Given the description of an element on the screen output the (x, y) to click on. 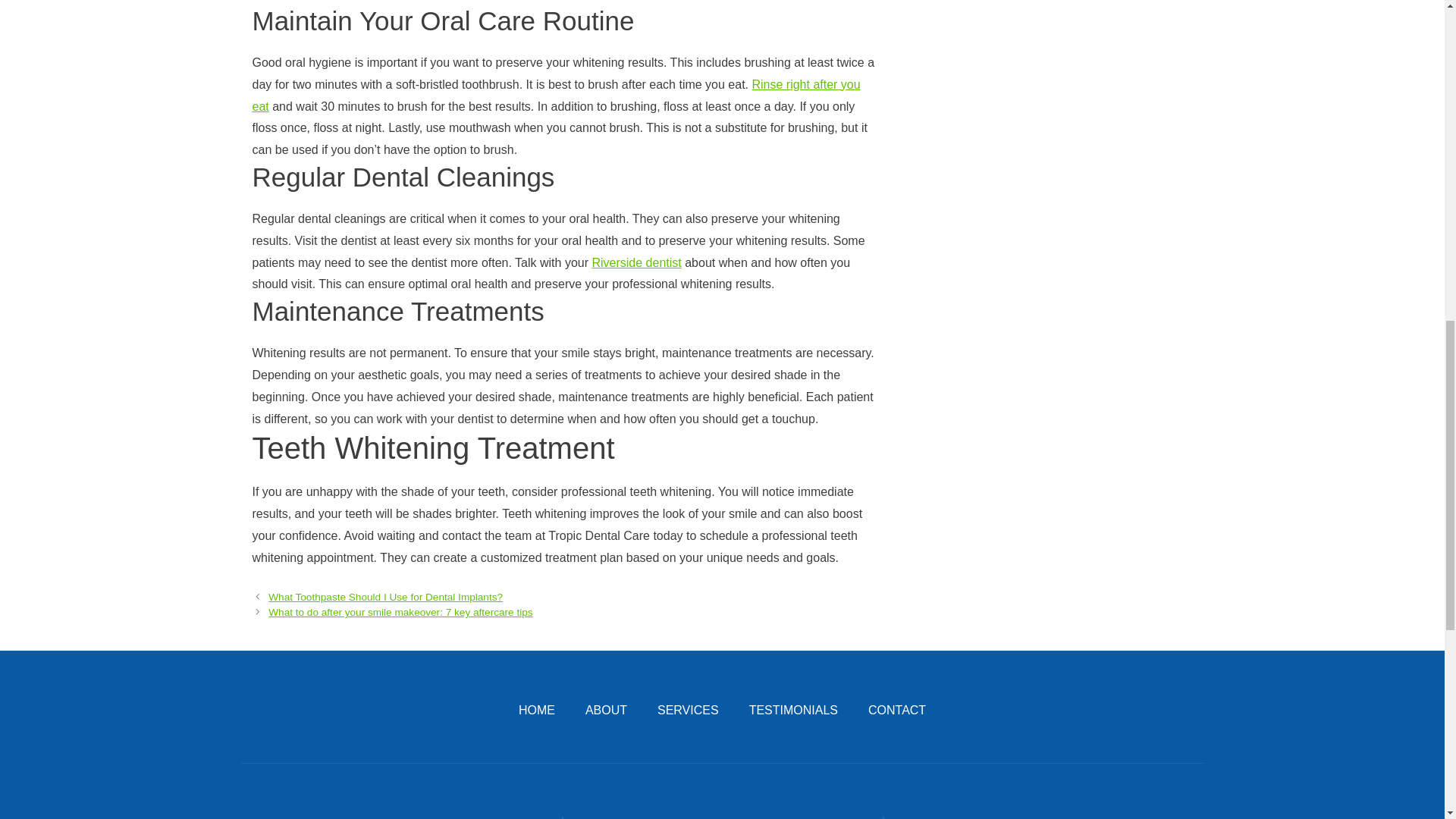
What Toothpaste Should I Use for Dental Implants? (384, 596)
ABOUT (606, 709)
SERVICES (688, 709)
Rinse right after you eat (555, 95)
What to do after your smile makeover: 7 key aftercare tips (399, 612)
Previous (384, 596)
HOME (536, 709)
Next (399, 612)
Riverside dentist (636, 262)
